Given the description of an element on the screen output the (x, y) to click on. 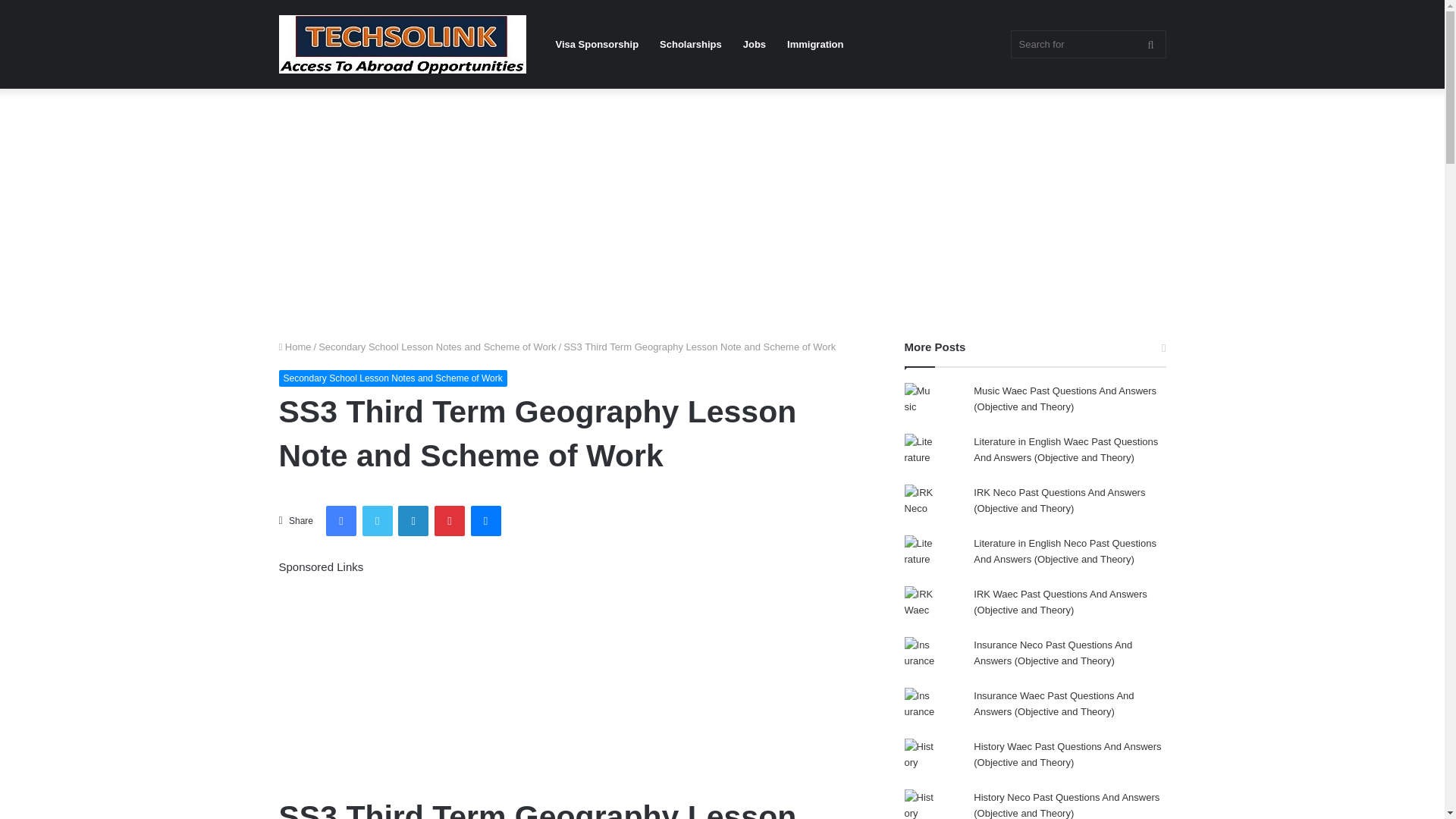
Messenger (485, 521)
LinkedIn (412, 521)
Search for (1088, 44)
Visa Sponsorship (596, 44)
Loans, Banking and Finance Blog (402, 44)
Twitter (377, 521)
Secondary School Lesson Notes and Scheme of Work (392, 378)
Pinterest (448, 521)
Facebook (341, 521)
Facebook (341, 521)
